Given the description of an element on the screen output the (x, y) to click on. 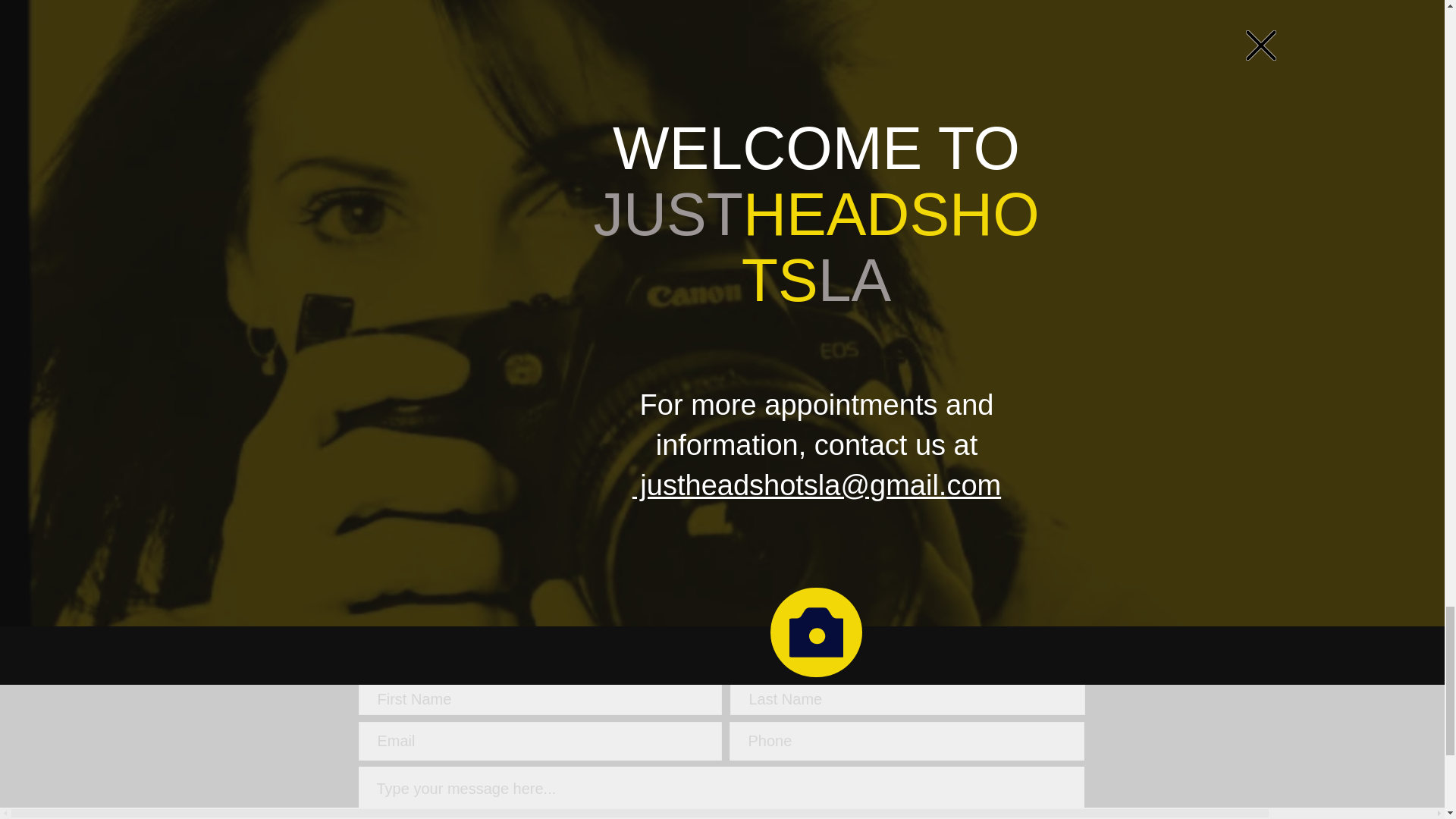
RATES (741, 549)
View Performance Photography (784, 438)
WELCOME (393, 549)
ABOUT (469, 549)
Go Beyond Headshots (755, 384)
TESTIMONIALS (656, 549)
